Given the description of an element on the screen output the (x, y) to click on. 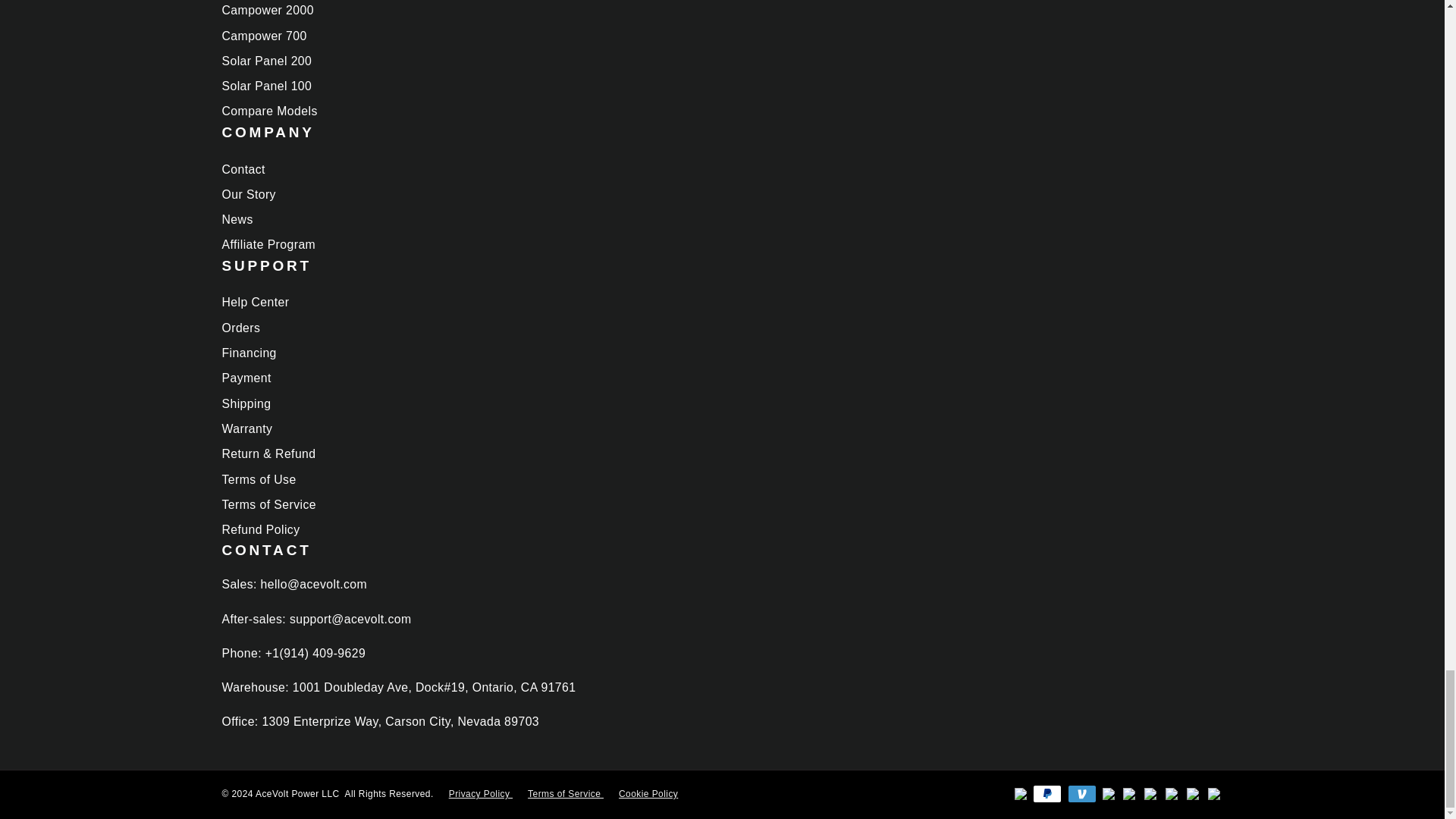
Venmo (1081, 793)
PayPal (1046, 793)
